Given the description of an element on the screen output the (x, y) to click on. 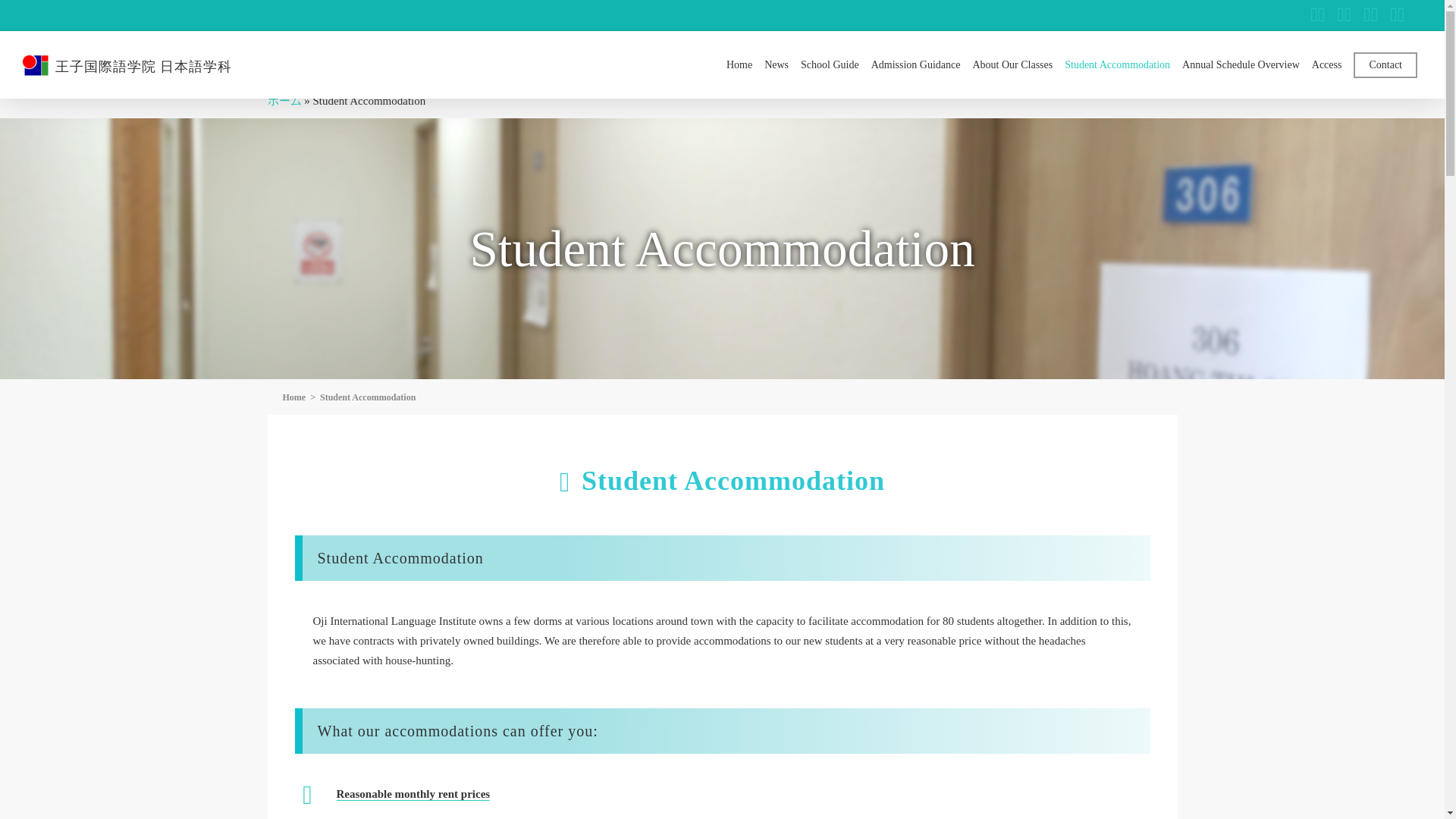
Vietnamese (1395, 14)
Access (1327, 64)
Home (739, 64)
Japanese (1315, 14)
School Guide (829, 64)
Annual Schedule Overview (1241, 64)
Student Accommodation (367, 397)
Student Accommodation (1117, 64)
Home (294, 397)
Admission Guidance (915, 64)
